Given the description of an element on the screen output the (x, y) to click on. 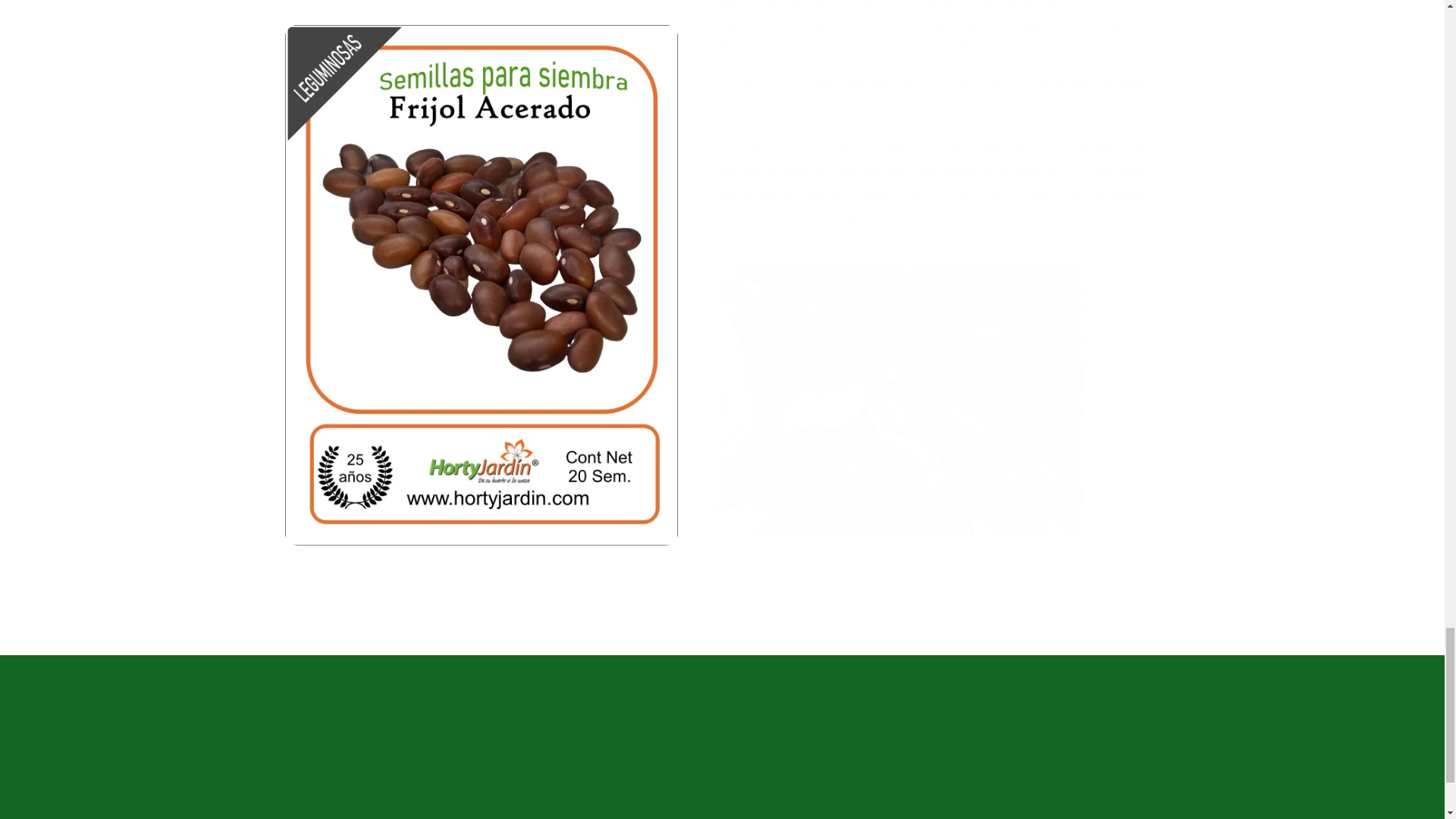
Search Frequent questions Notice of Privacy (722, 733)
Search Frequent questions Notice of Privacy (721, 718)
